Given the description of an element on the screen output the (x, y) to click on. 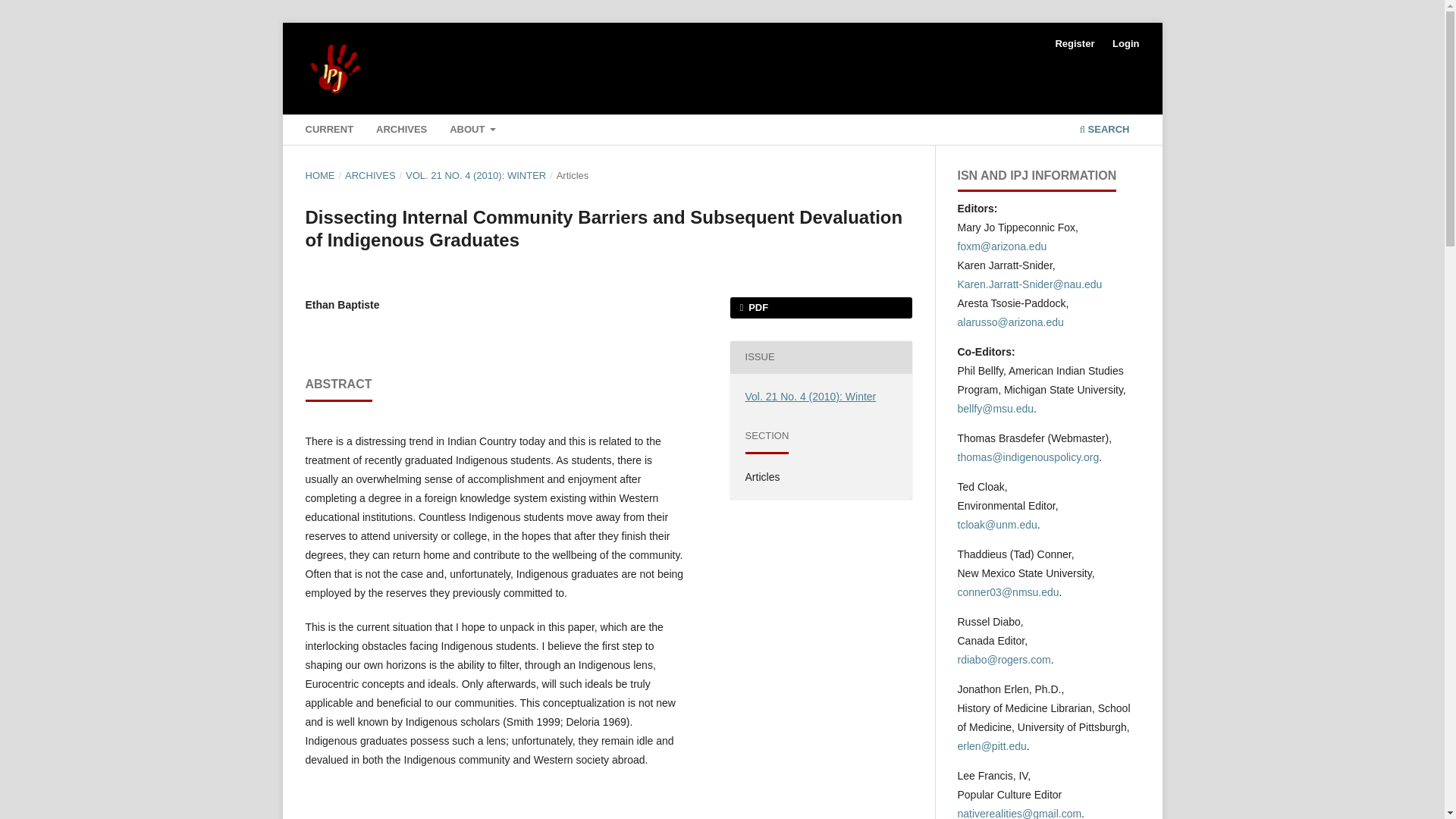
HOME (319, 175)
ARCHIVES (401, 130)
PDF (820, 307)
ABOUT (472, 130)
SEARCH (1104, 130)
CURRENT (328, 130)
Register (1074, 43)
Login (1126, 43)
ARCHIVES (370, 175)
